Given the description of an element on the screen output the (x, y) to click on. 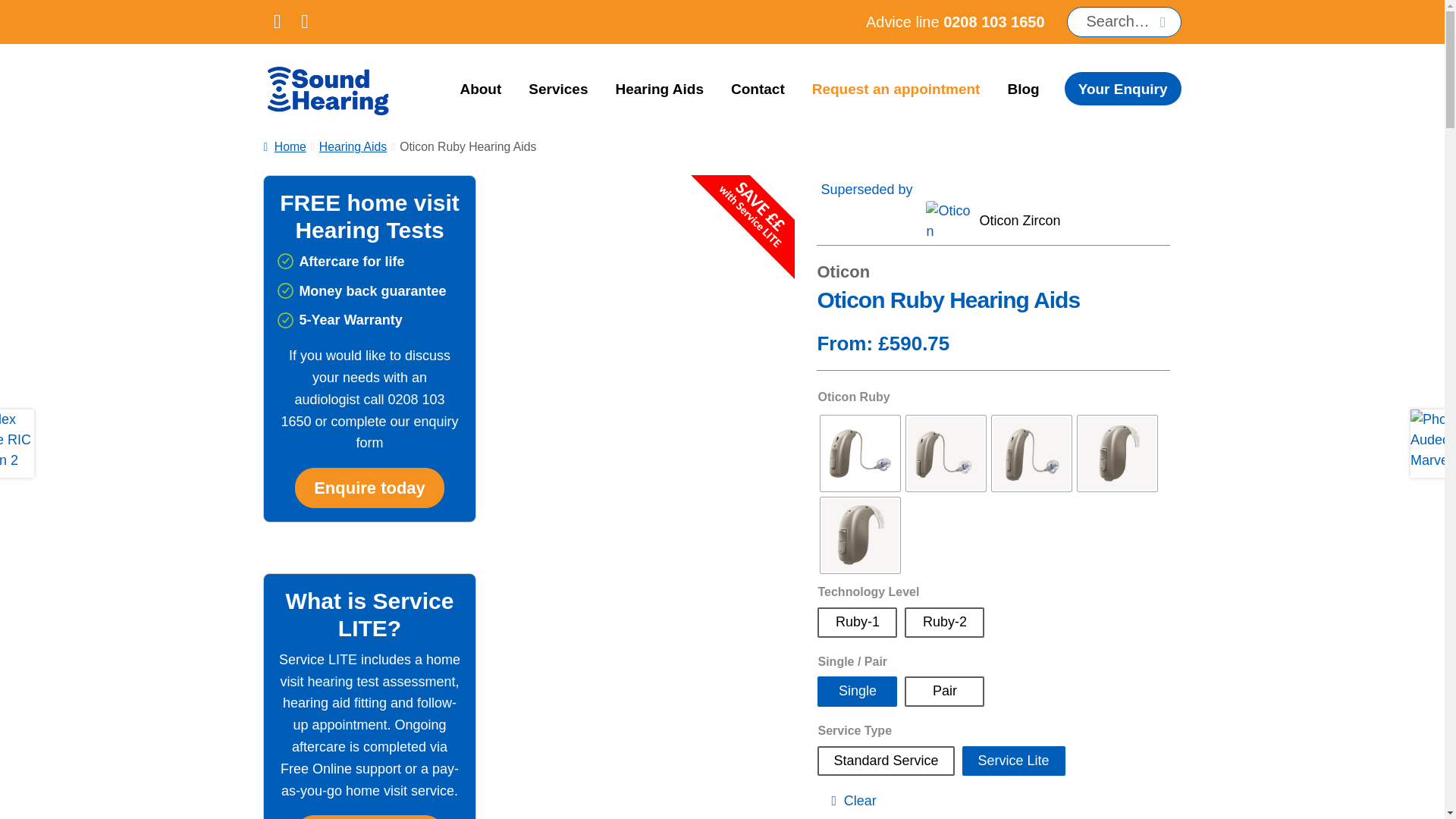
Ruby MiniRITE 312 (945, 453)
Services (558, 88)
Contact (757, 88)
Standard Service (884, 760)
Hearing Aids (659, 88)
Ruby MiniRITE 312 T (1031, 453)
Ruby MiniRITE Rechargeable (860, 453)
Service Lite (1013, 760)
Ruby MiniBTE 13 (1117, 453)
Ruby-1 (856, 622)
